Given the description of an element on the screen output the (x, y) to click on. 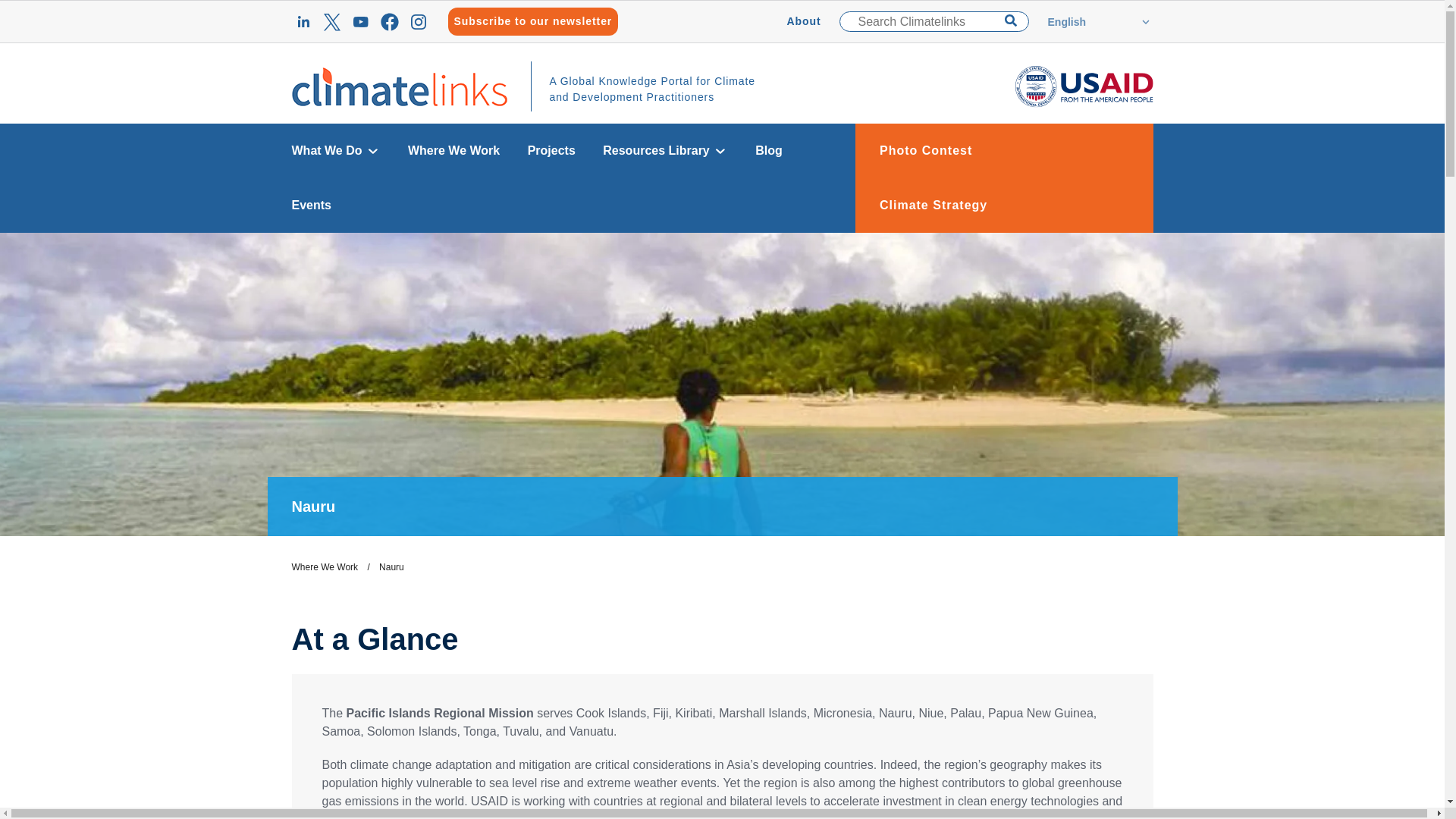
Instagram (417, 21)
What We Do (335, 150)
Search Climatelinks (932, 21)
Linked In (302, 21)
Home (1083, 84)
Subscribe to our newsletter (531, 21)
About (804, 21)
Icon Twitter (331, 21)
Where We Work (454, 150)
Facebook (388, 21)
Skip to main content (721, 6)
Home (398, 84)
Projects (551, 150)
Resources Library (665, 150)
